Given the description of an element on the screen output the (x, y) to click on. 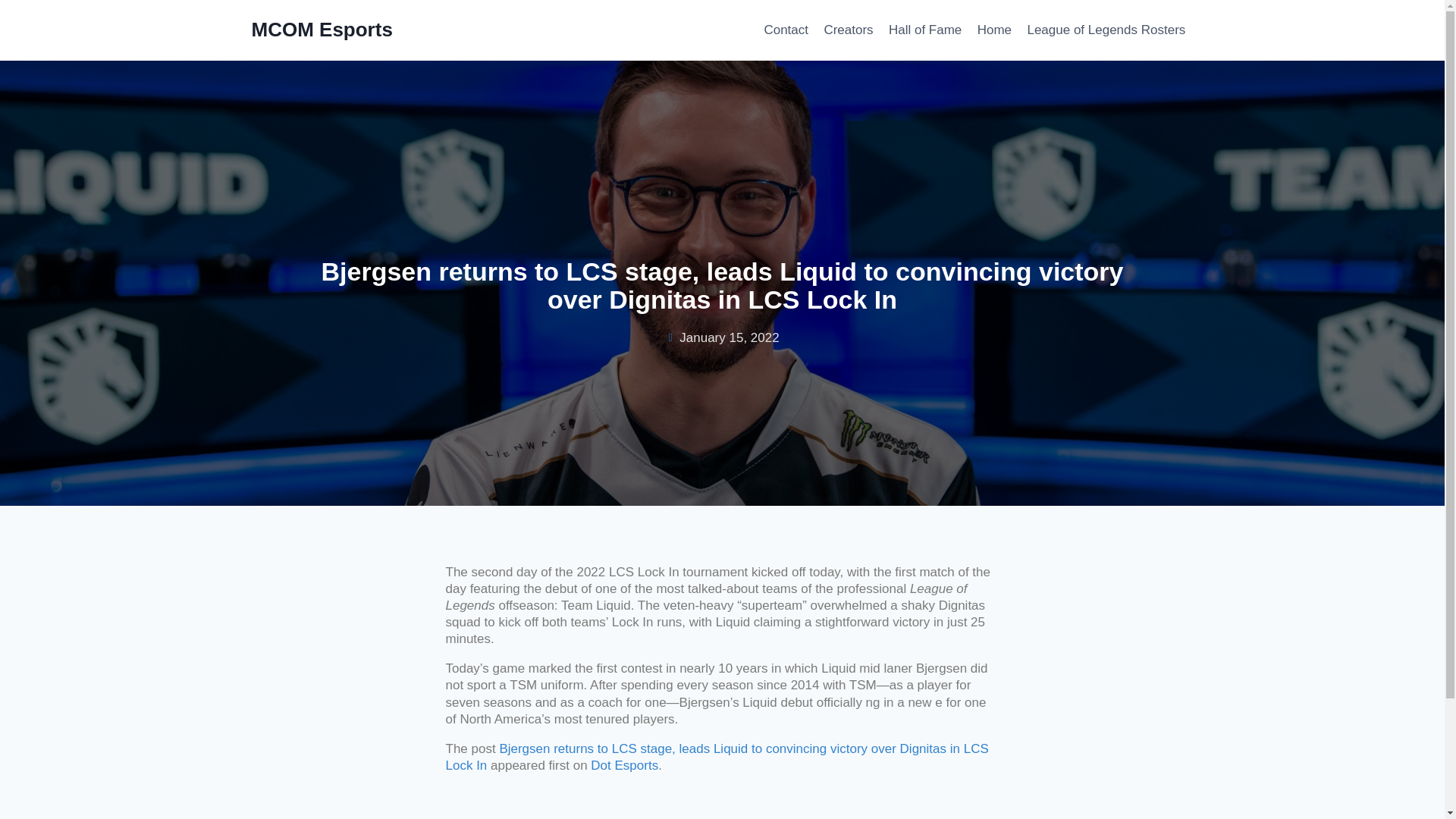
Hall of Fame (924, 30)
Dot Esports (624, 765)
Creators (847, 30)
Home (994, 30)
MCOM Esports (322, 29)
League of Legends Rosters (1105, 30)
Contact (785, 30)
January 15, 2022 (721, 338)
